Given the description of an element on the screen output the (x, y) to click on. 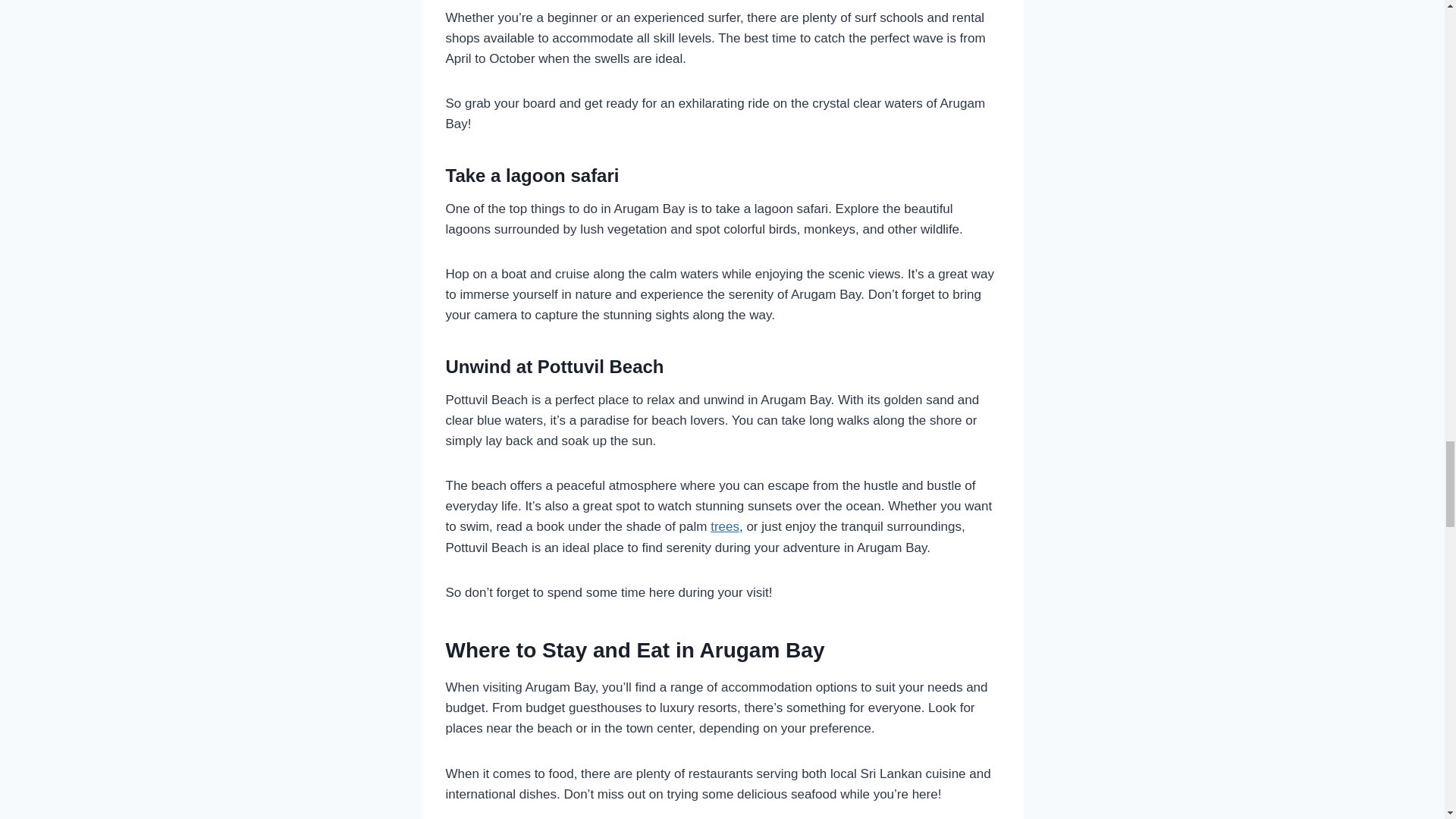
trees (724, 526)
